Given the description of an element on the screen output the (x, y) to click on. 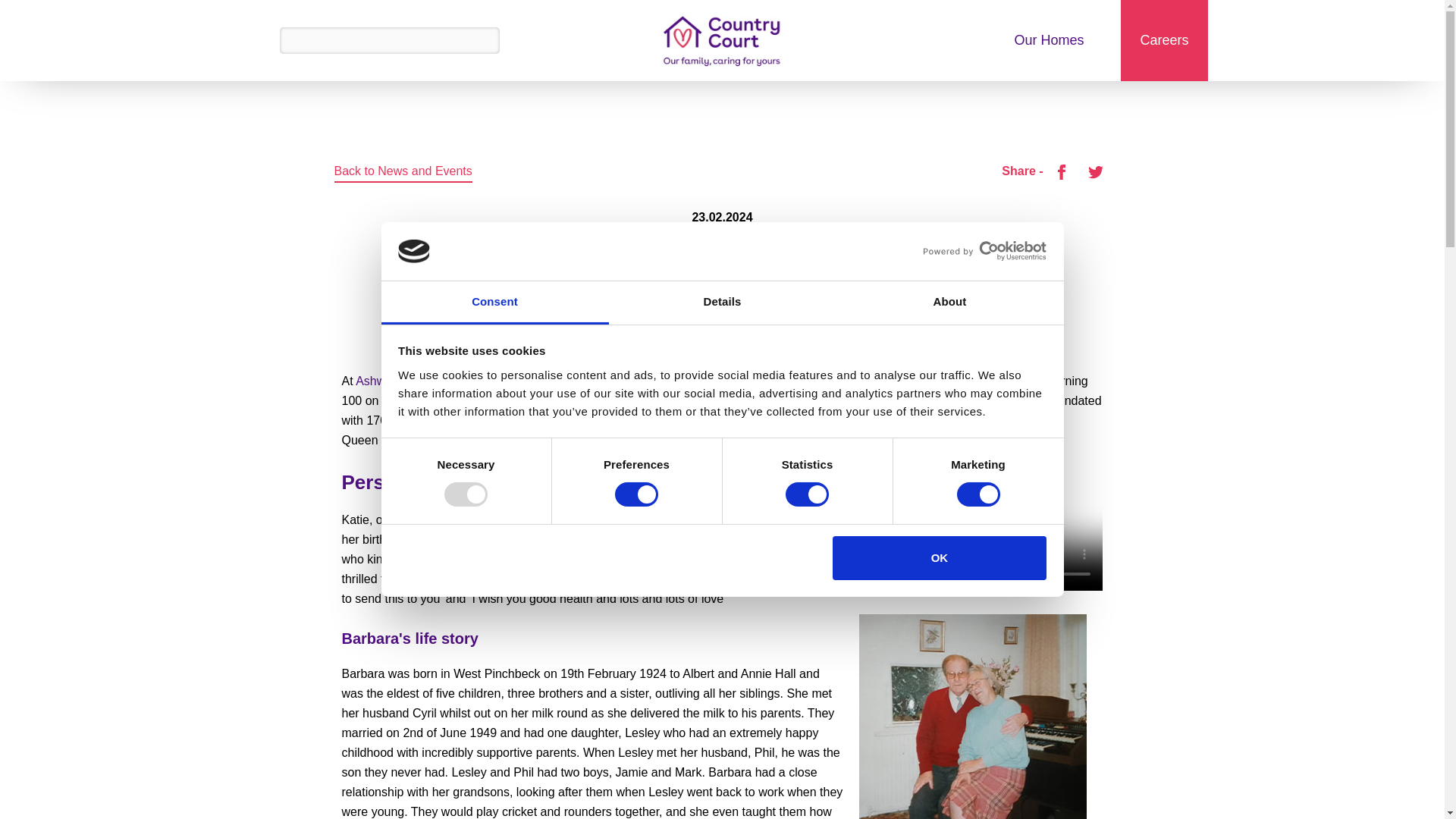
Details (721, 302)
Consent (494, 302)
About (948, 302)
